Given the description of an element on the screen output the (x, y) to click on. 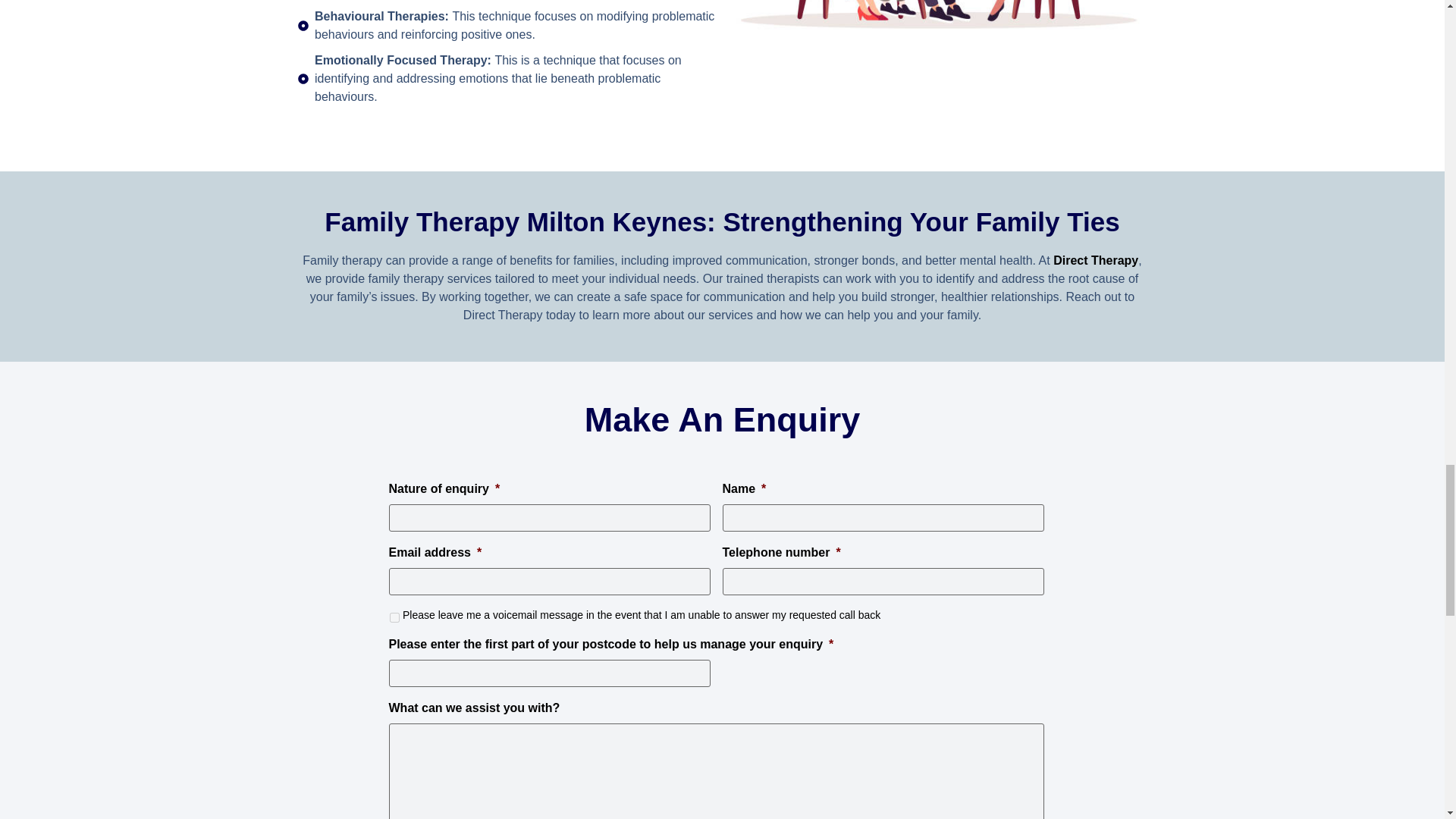
Direct Therapy (1095, 259)
